Given the description of an element on the screen output the (x, y) to click on. 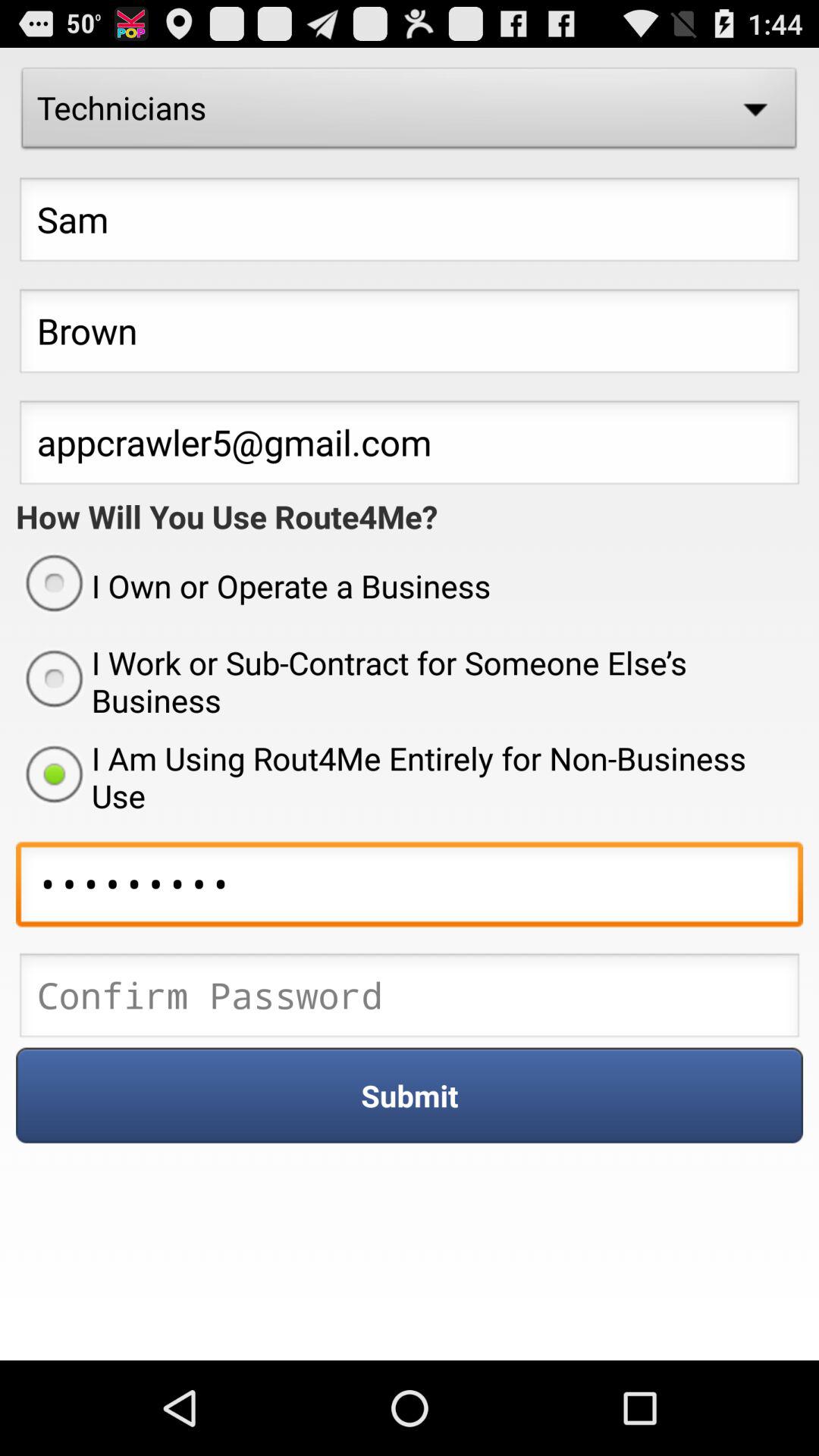
confirm password (409, 999)
